Given the description of an element on the screen output the (x, y) to click on. 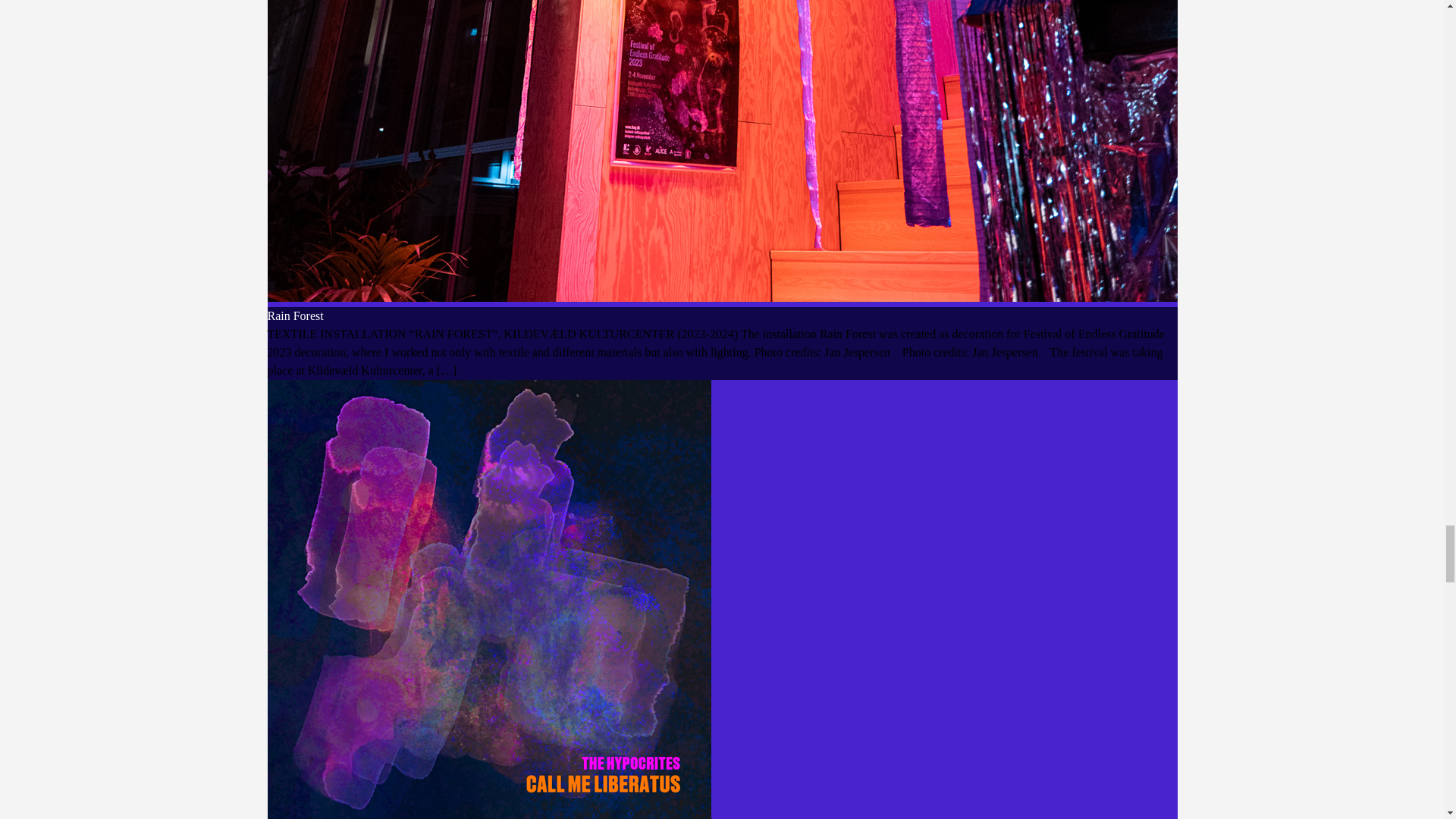
Rain Forest (294, 315)
Rain Forest (294, 315)
